Given the description of an element on the screen output the (x, y) to click on. 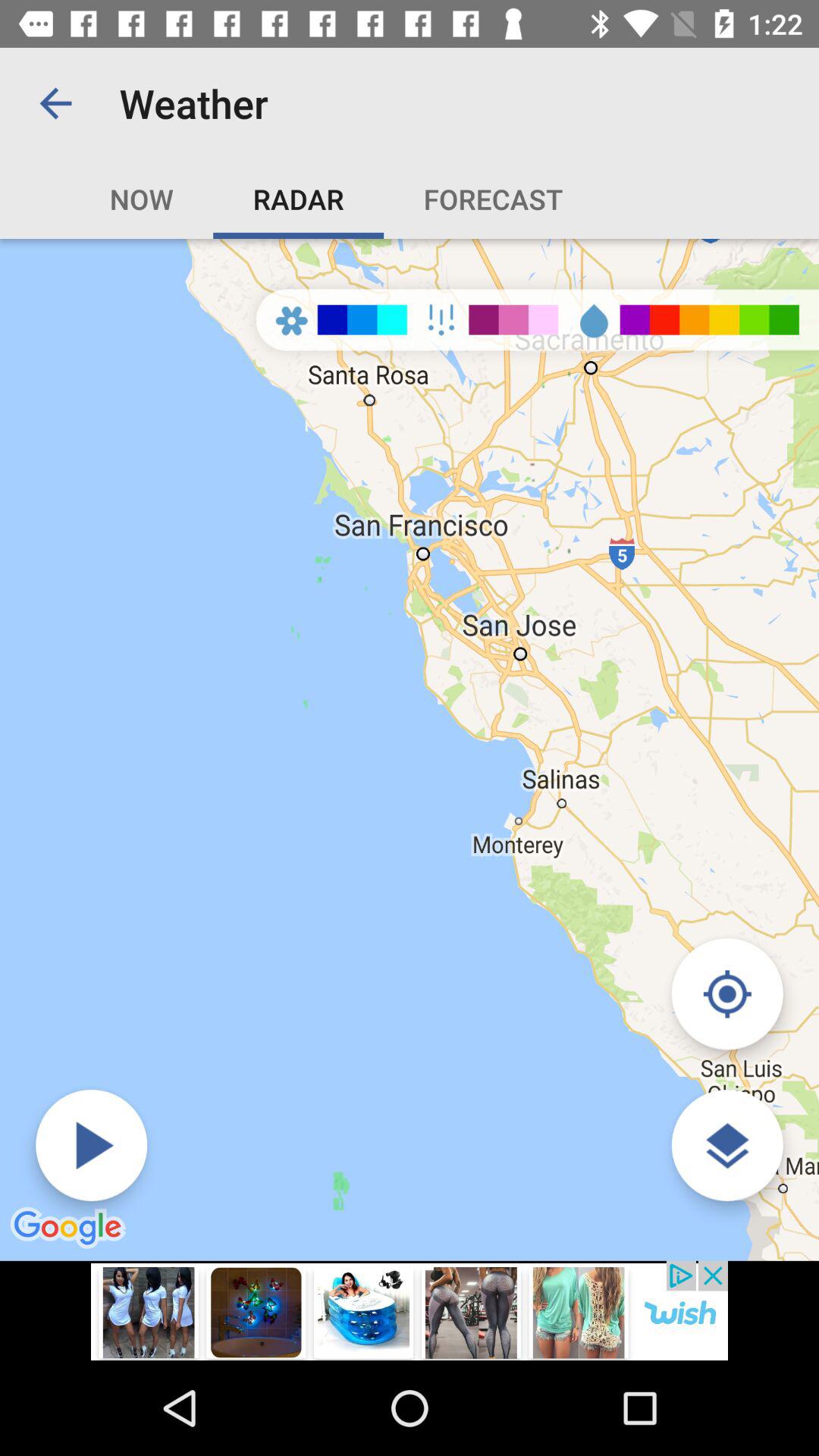
open google map option (727, 1145)
